Given the description of an element on the screen output the (x, y) to click on. 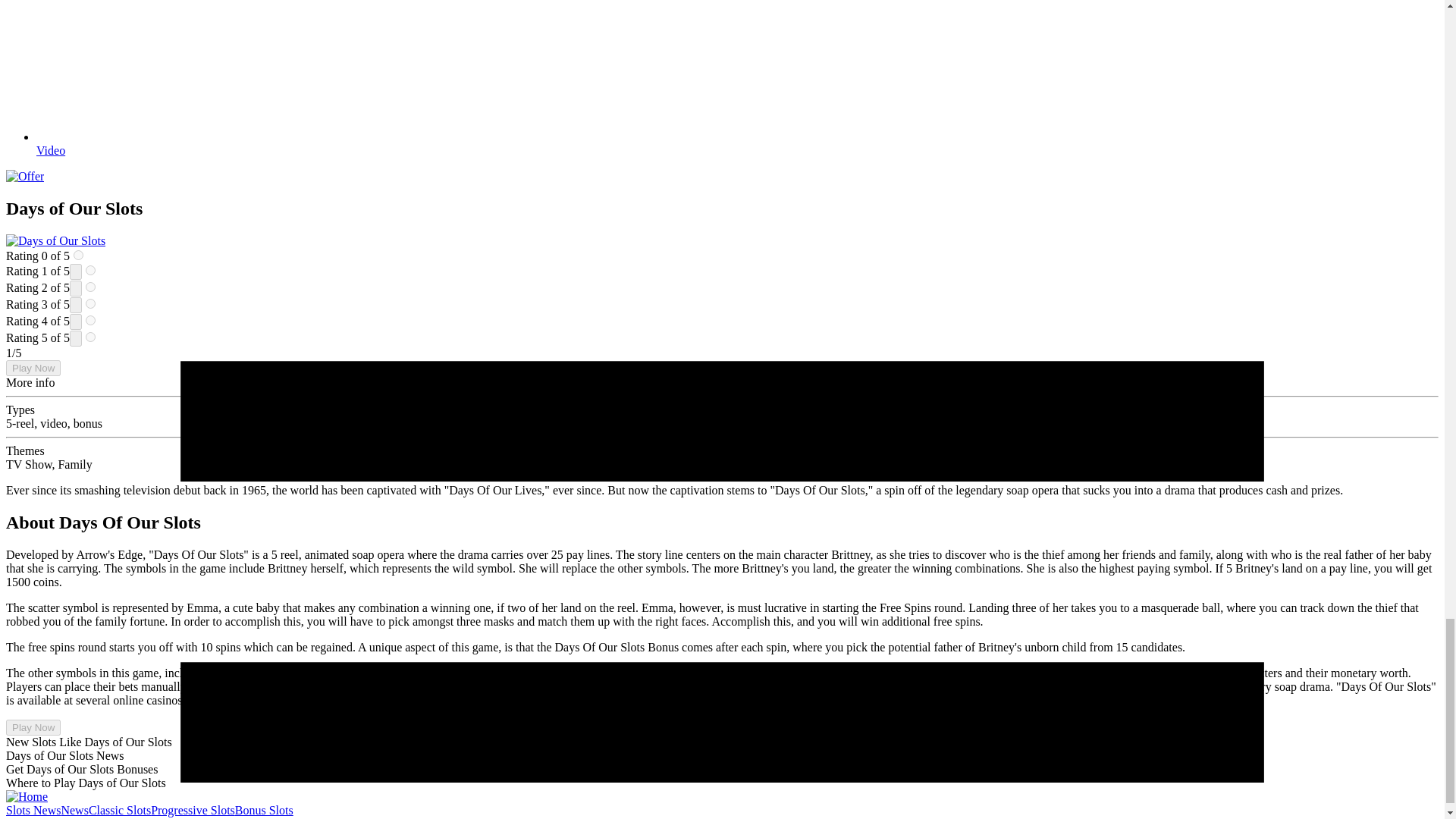
Slots News (33, 809)
4 (90, 320)
News (74, 809)
Bonus Slots (264, 809)
5 (90, 337)
Play Now (33, 727)
Progressive Slots (192, 809)
Video (50, 150)
2 (90, 286)
Classic Slots (119, 809)
